Given the description of an element on the screen output the (x, y) to click on. 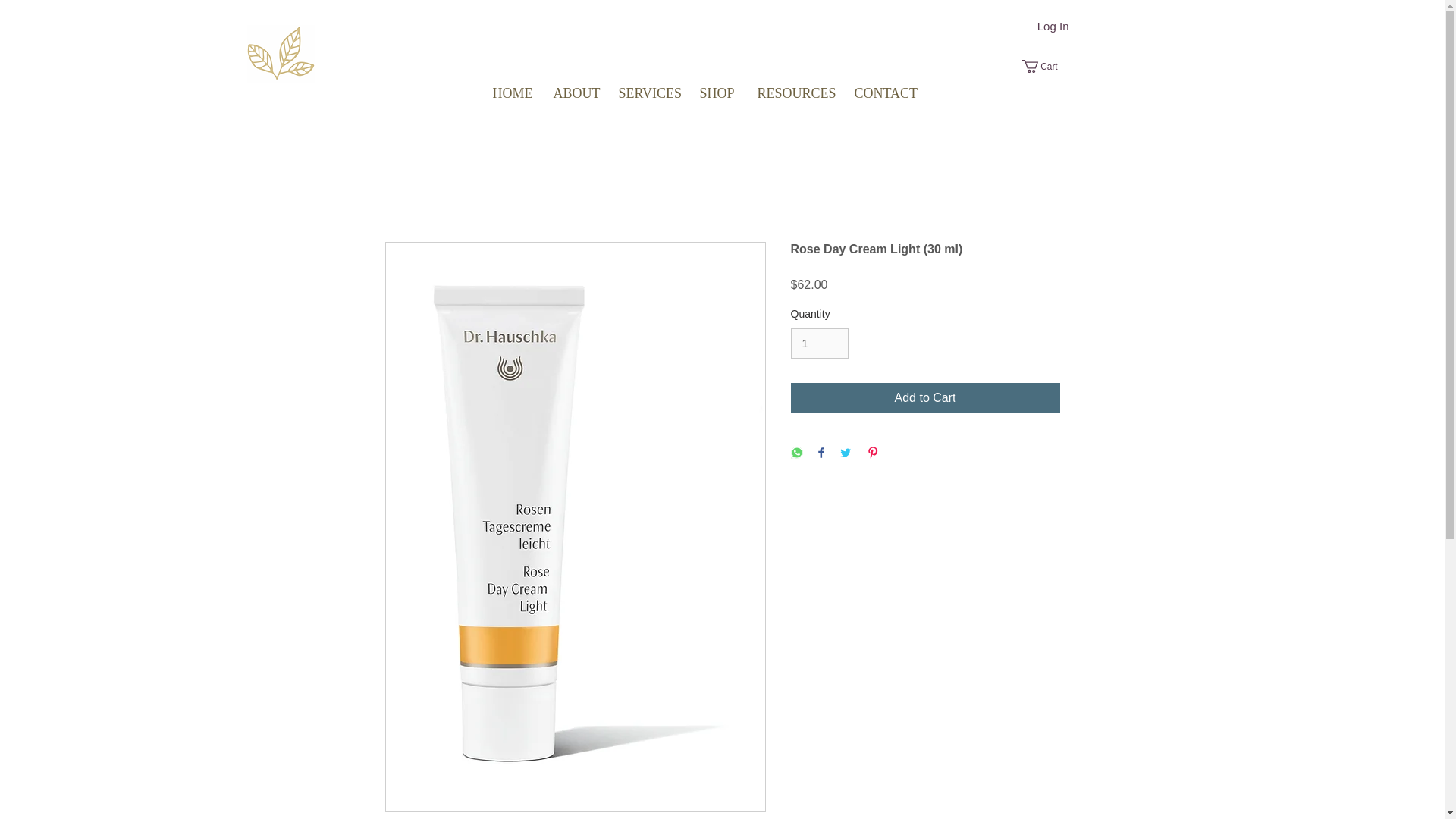
RESOURCES (794, 93)
Add to Cart (924, 398)
HOME (510, 93)
CONTACT (883, 93)
Log In (1053, 25)
SERVICES (647, 93)
Cart (1046, 65)
Cart (1046, 65)
ABOUT (574, 93)
1 (818, 343)
